Given the description of an element on the screen output the (x, y) to click on. 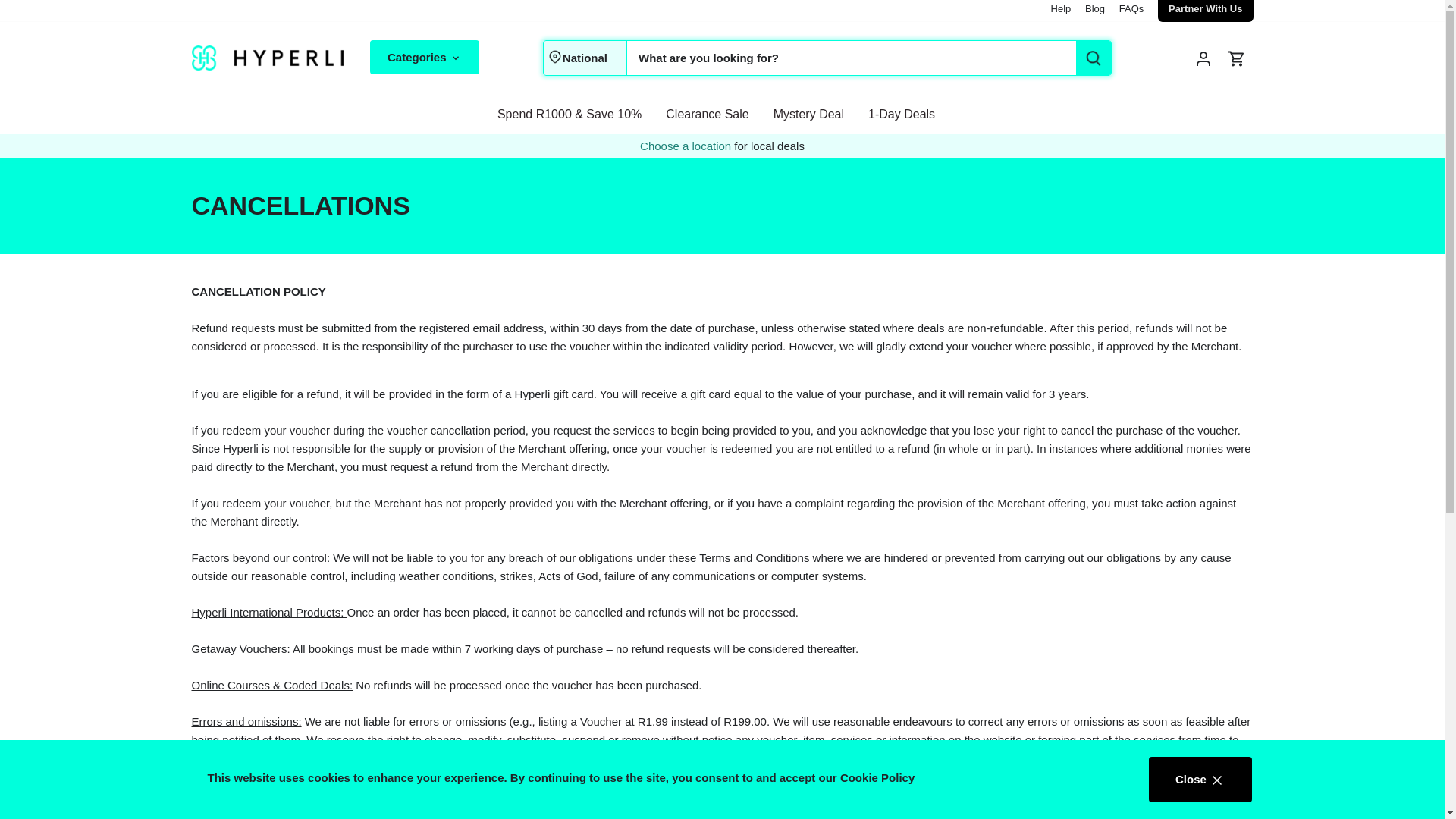
Help (1061, 8)
Choose a location (686, 145)
Partner With Us (1205, 8)
Categories (424, 57)
1-Day Deals (901, 114)
FAQs (1131, 8)
National (584, 57)
Mystery Deal (808, 114)
Clearance Sale (706, 114)
Blog (1094, 8)
